Given the description of an element on the screen output the (x, y) to click on. 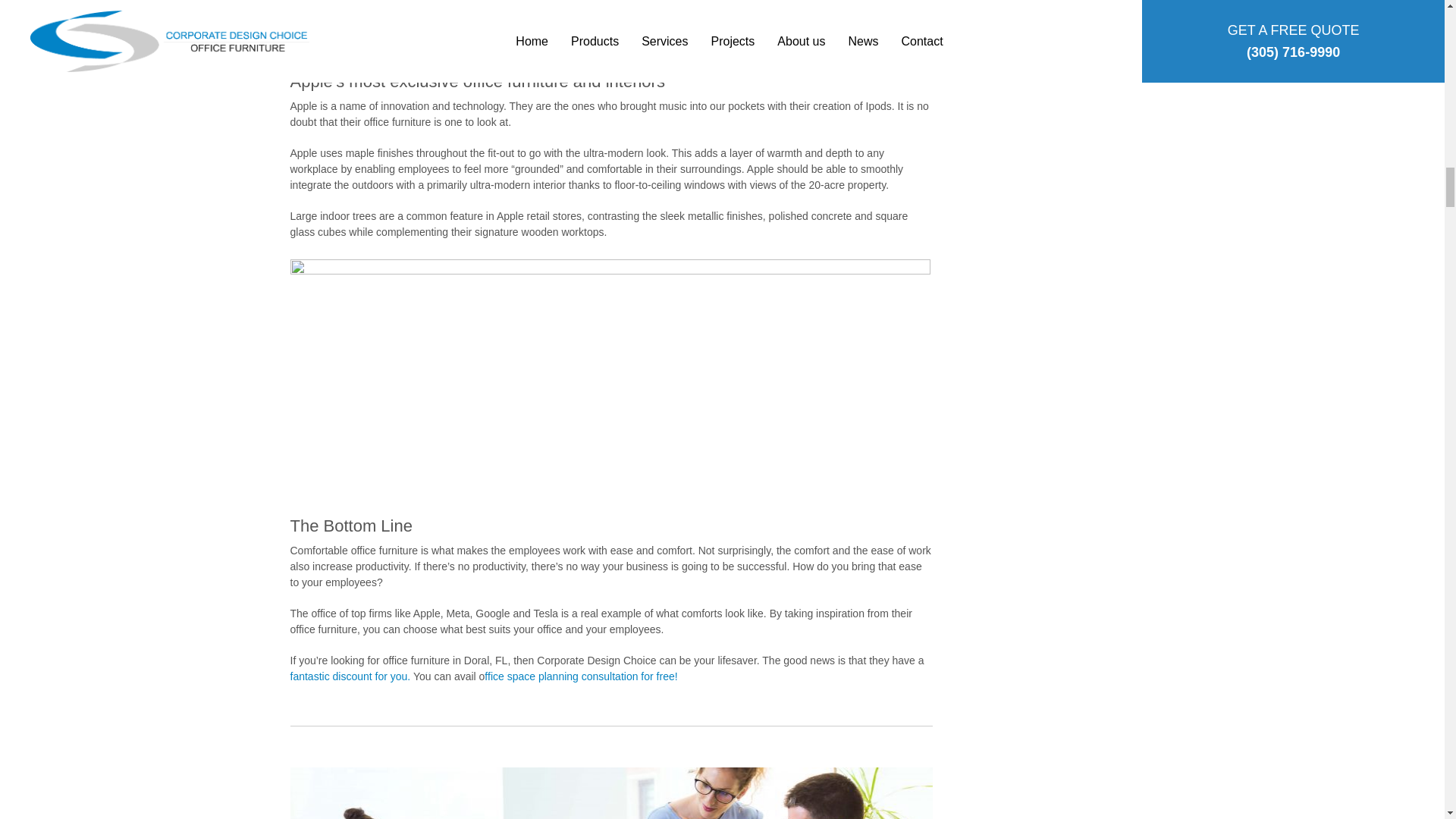
fantastic discount for you. (349, 676)
ffice space planning consultation for free! (580, 676)
